Given the description of an element on the screen output the (x, y) to click on. 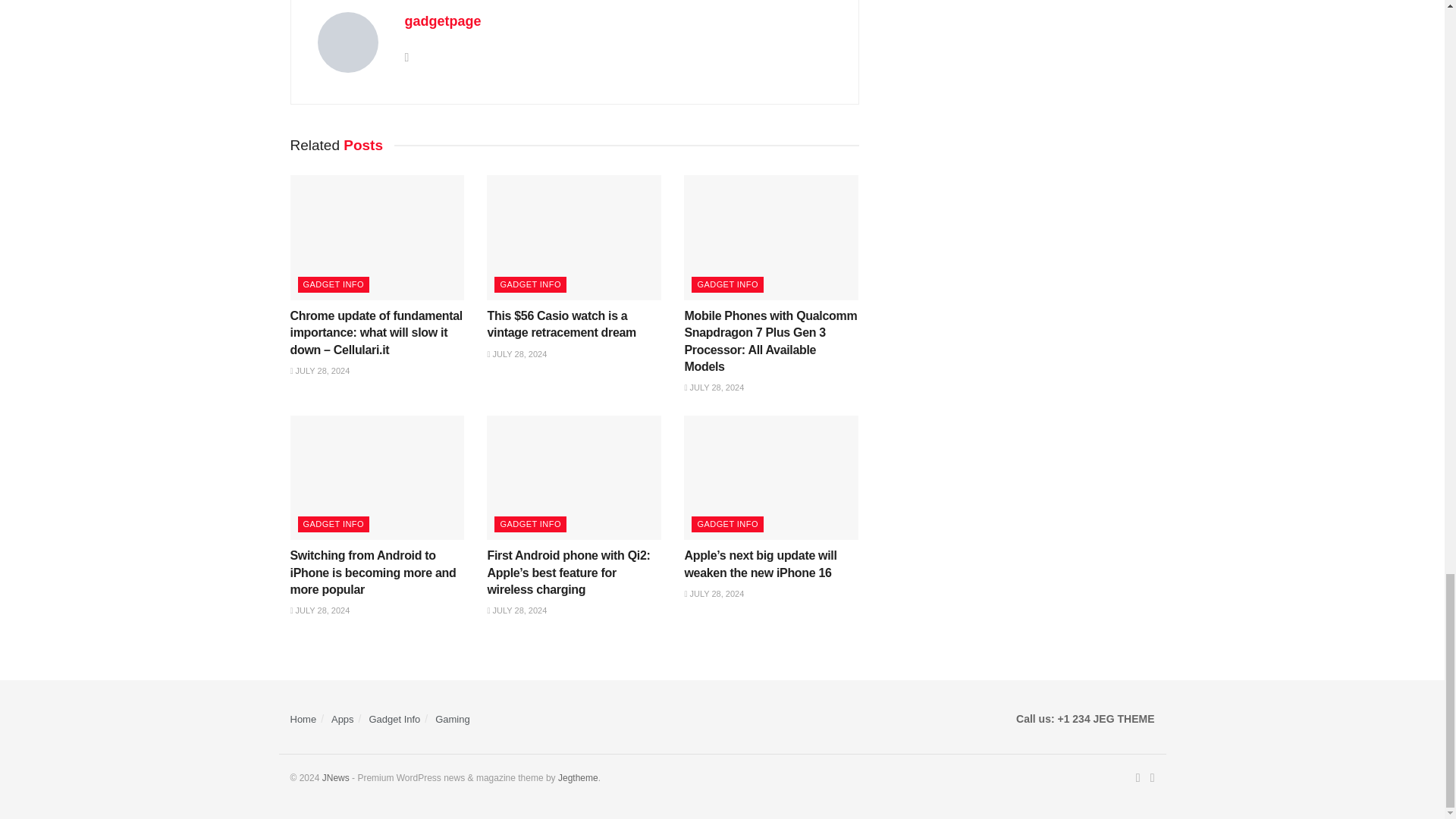
Jegtheme (577, 777)
